Given the description of an element on the screen output the (x, y) to click on. 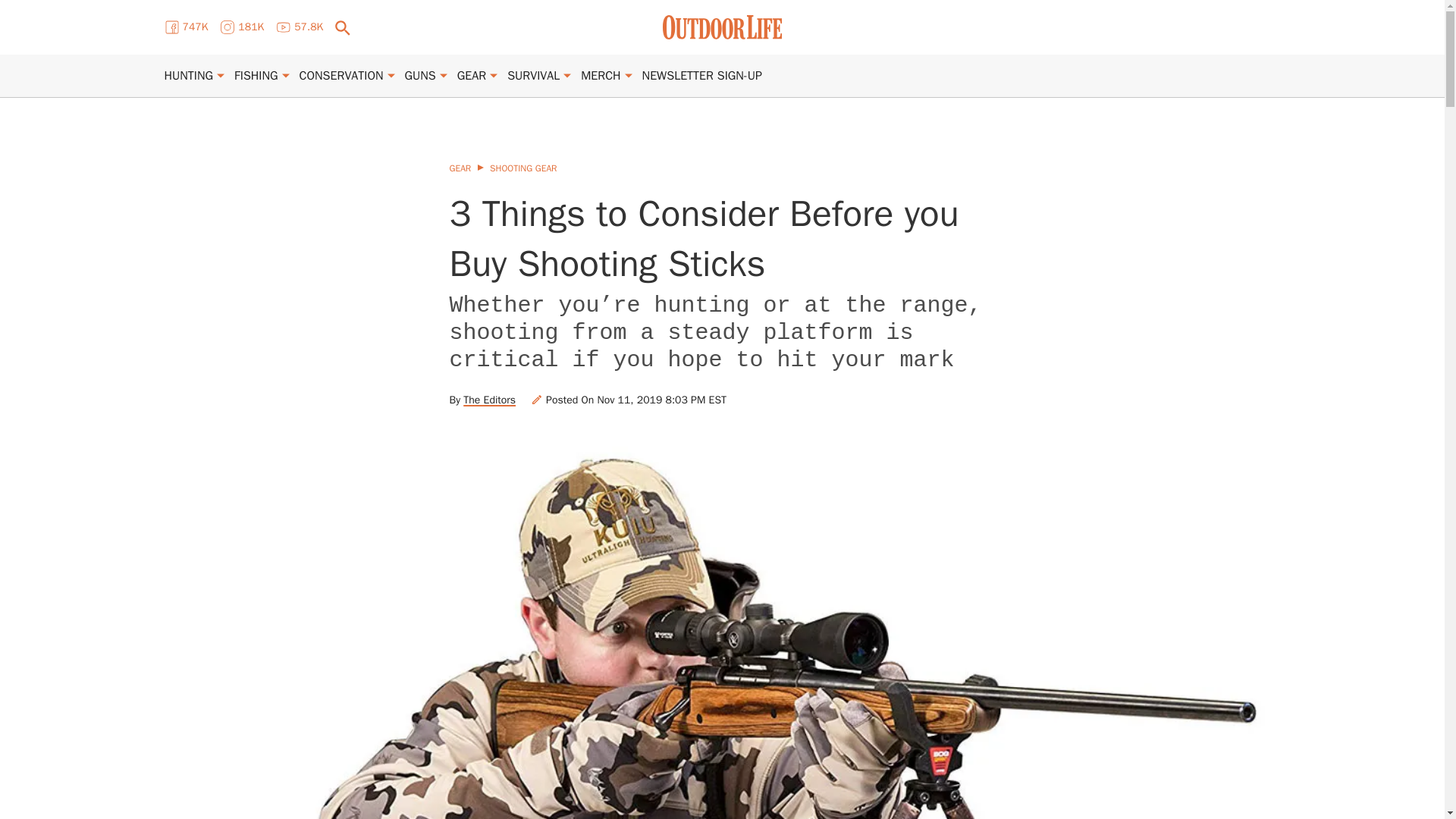
Merch (600, 75)
Conservation (341, 75)
Hunting (187, 75)
Fishing (256, 75)
Newsletter Sign-up (701, 75)
Guns (419, 75)
Gear (471, 75)
Survival (532, 75)
